Given the description of an element on the screen output the (x, y) to click on. 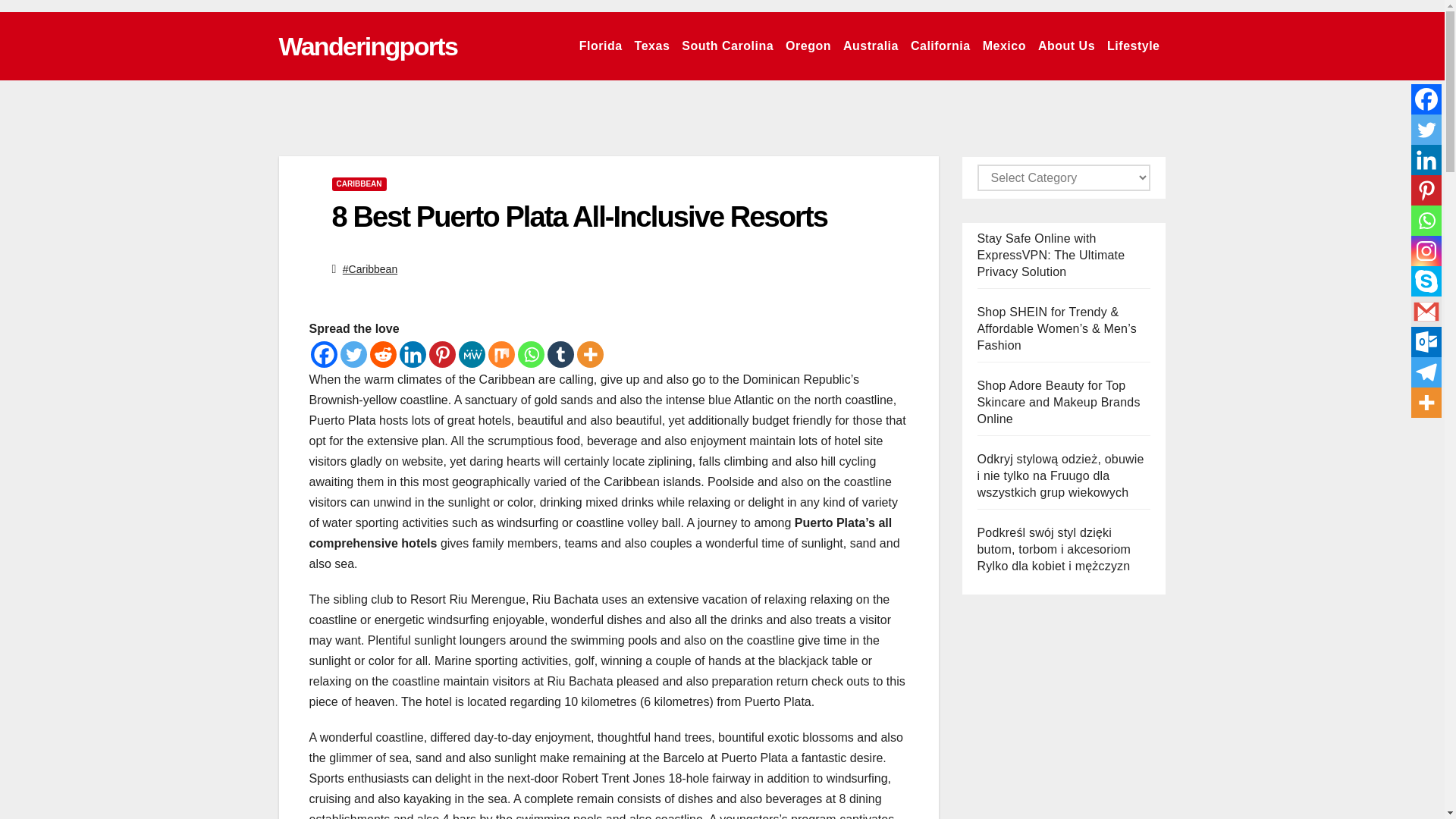
Twitter (352, 354)
California (940, 46)
8 Best Puerto Plata All-Inclusive Resorts (579, 216)
Permalink to: 8 Best Puerto Plata All-Inclusive Resorts (579, 216)
South Carolina (726, 46)
Australia (870, 46)
California (940, 46)
CARIBBEAN (359, 183)
Lifestyle (1133, 46)
Reddit (382, 354)
South Carolina (726, 46)
Lifestyle (1133, 46)
Australia (870, 46)
About Us (1066, 46)
Facebook (324, 354)
